Given the description of an element on the screen output the (x, y) to click on. 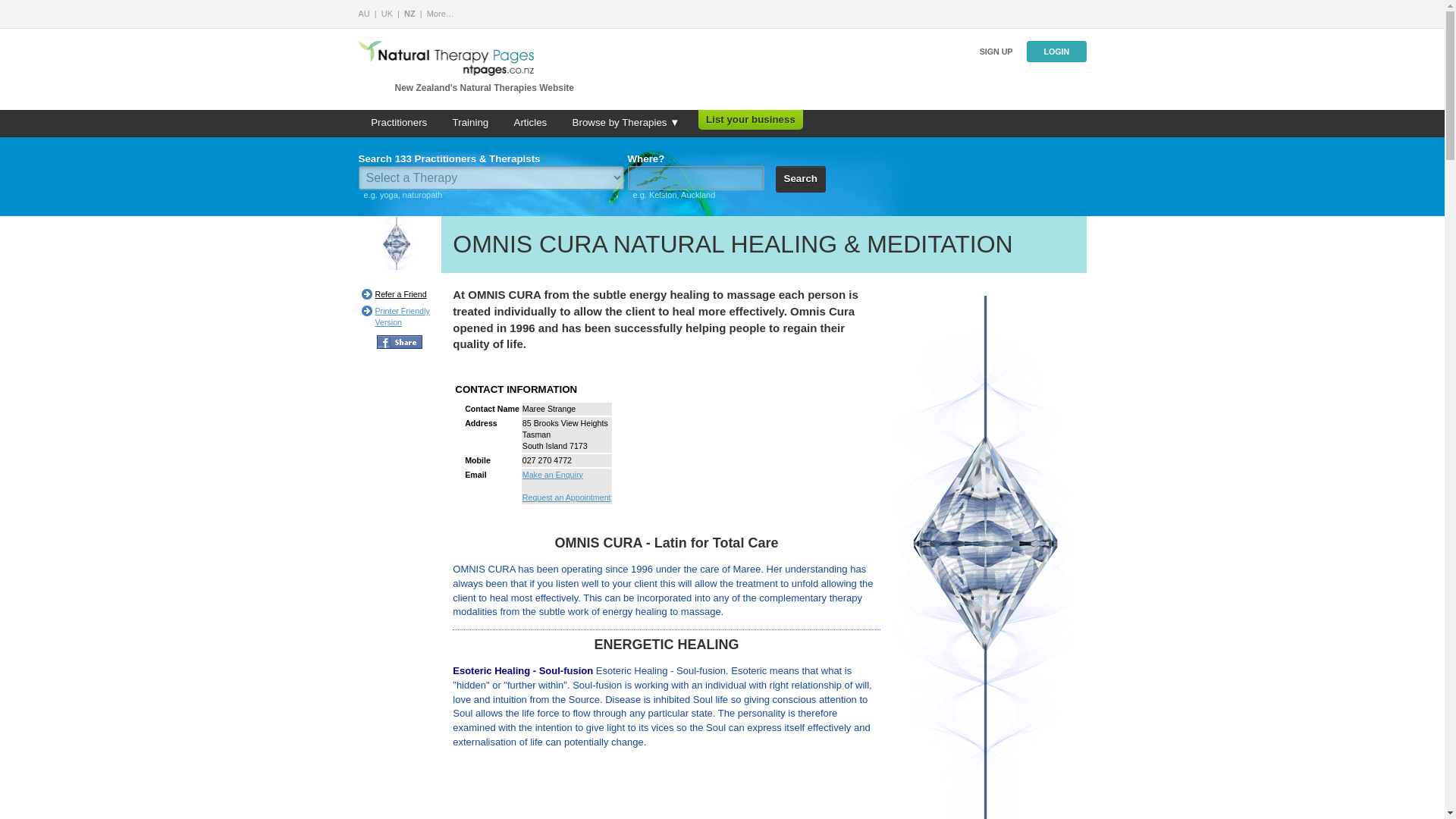
UK (387, 13)
LOGIN (1056, 51)
SIGN UP (996, 51)
Practitioners (398, 123)
Natural Therapy Pages UK (387, 13)
Natural Therapy Pages AU (363, 13)
Training (469, 123)
Natural Therapy Pages (440, 13)
AU (363, 13)
Training (469, 123)
Practitioners (398, 123)
Articles (529, 123)
List your business (750, 119)
